Given the description of an element on the screen output the (x, y) to click on. 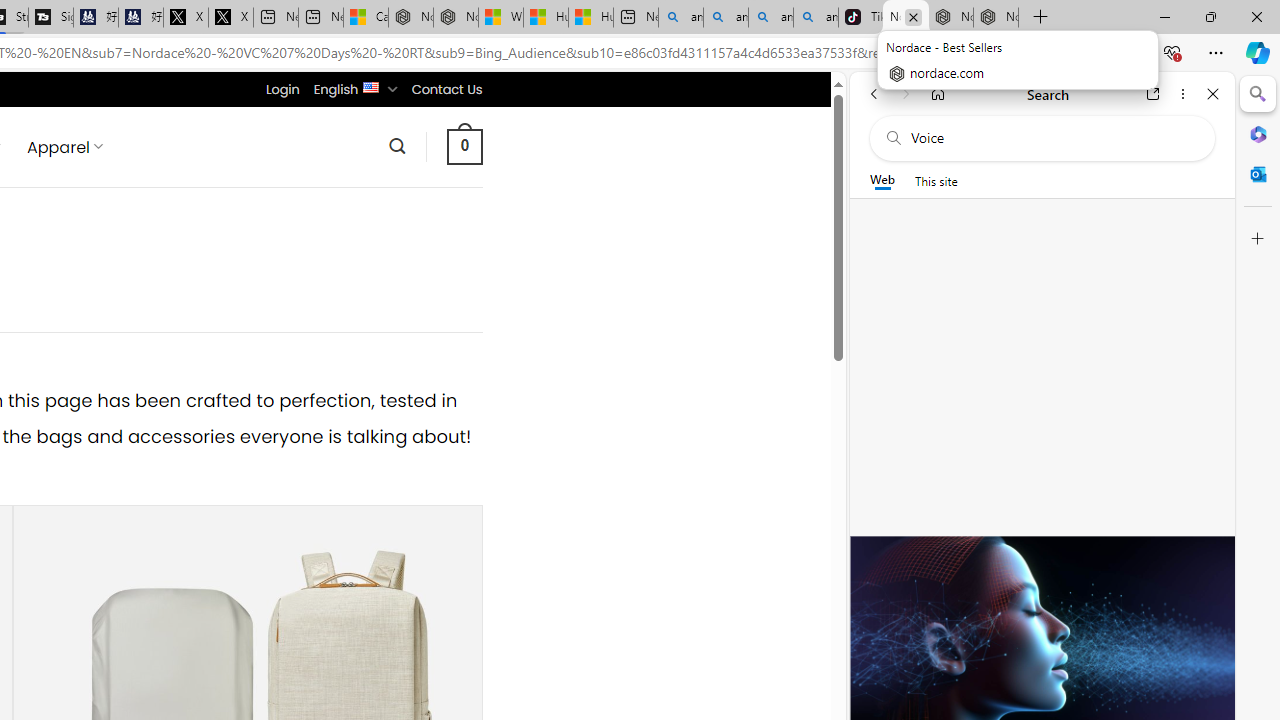
Nordace Siena Pro 15 Backpack (950, 17)
Microsoft 365 (1258, 133)
Forward (906, 93)
This site scope (936, 180)
Web scope (882, 180)
TikTok (860, 17)
amazon - Search (725, 17)
Customize (1258, 239)
Wildlife - MSN (500, 17)
